Given the description of an element on the screen output the (x, y) to click on. 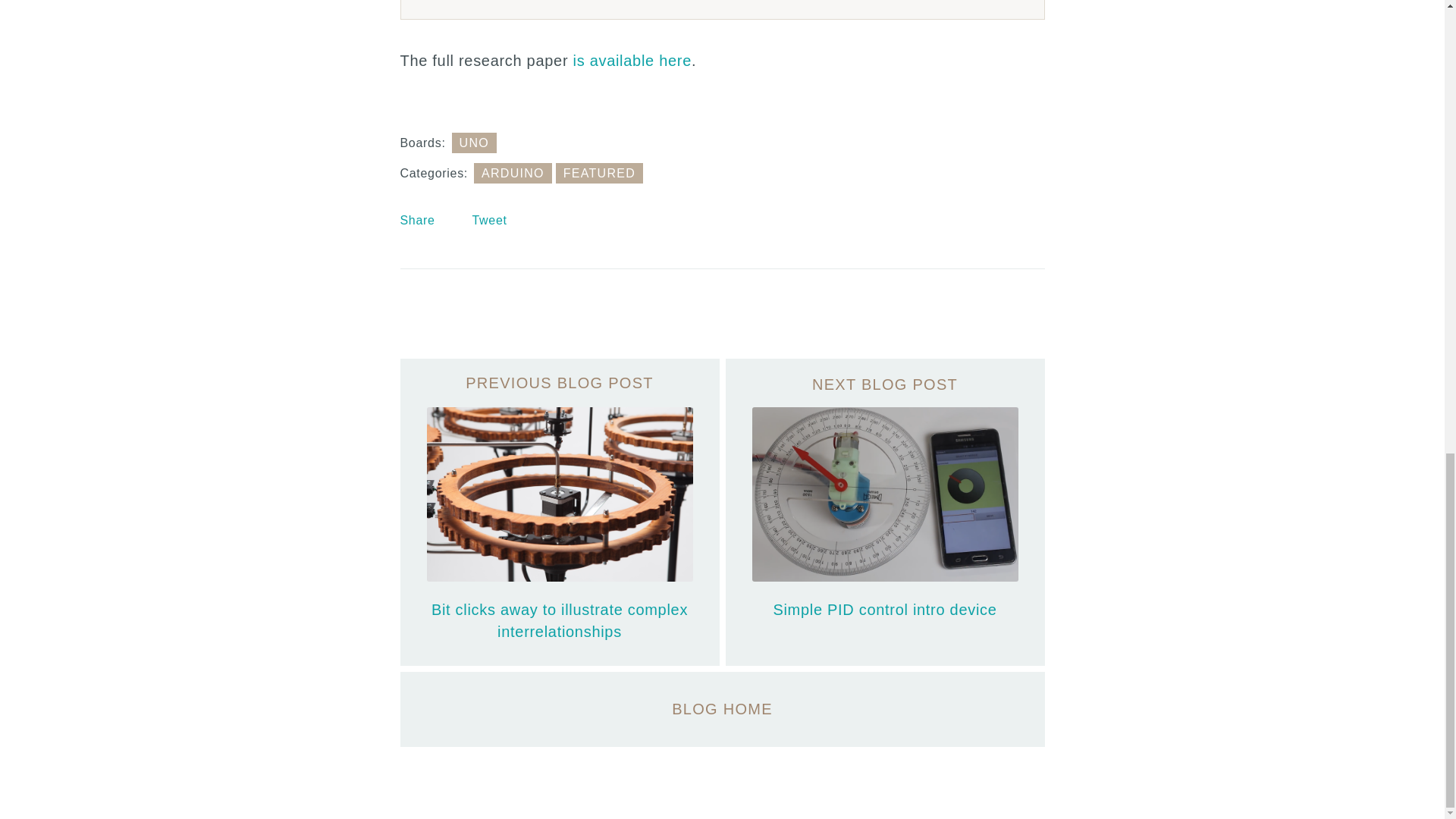
Simple PID control intro device (884, 511)
Share (417, 220)
FEATURED (598, 172)
is available here (632, 60)
UNO (474, 142)
ARDUINO (512, 172)
Tweet (488, 220)
Bit clicks away to illustrate complex interrelationships (559, 511)
BLOG HOME (722, 708)
